Given the description of an element on the screen output the (x, y) to click on. 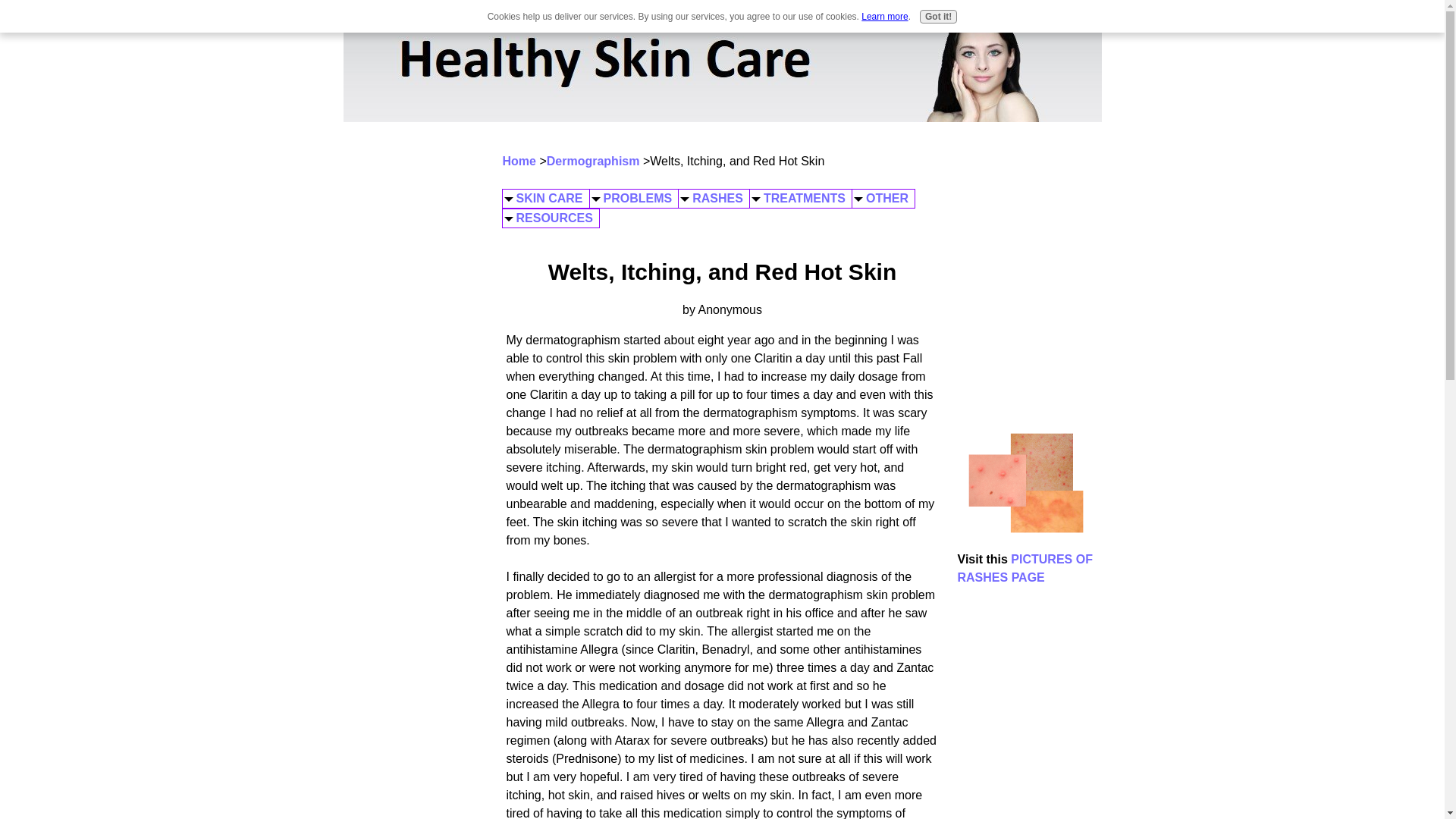
Home (518, 160)
Dermographism (593, 160)
